Given the description of an element on the screen output the (x, y) to click on. 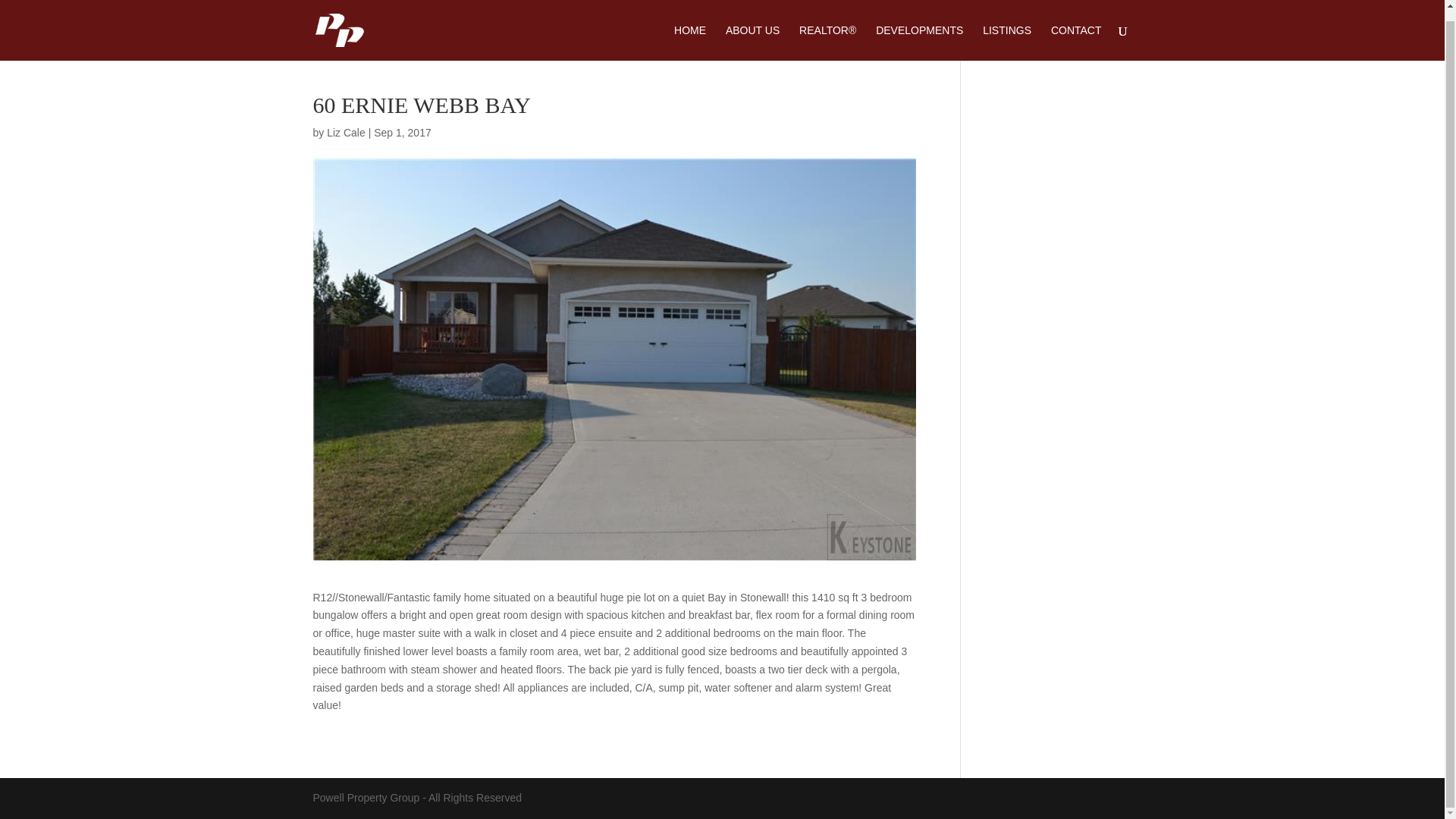
HOME (690, 31)
Liz Cale (345, 132)
DEVELOPMENTS (919, 31)
Posts by Liz Cale (345, 132)
CONTACT (1076, 31)
LISTINGS (1006, 31)
ABOUT US (751, 31)
